Given the description of an element on the screen output the (x, y) to click on. 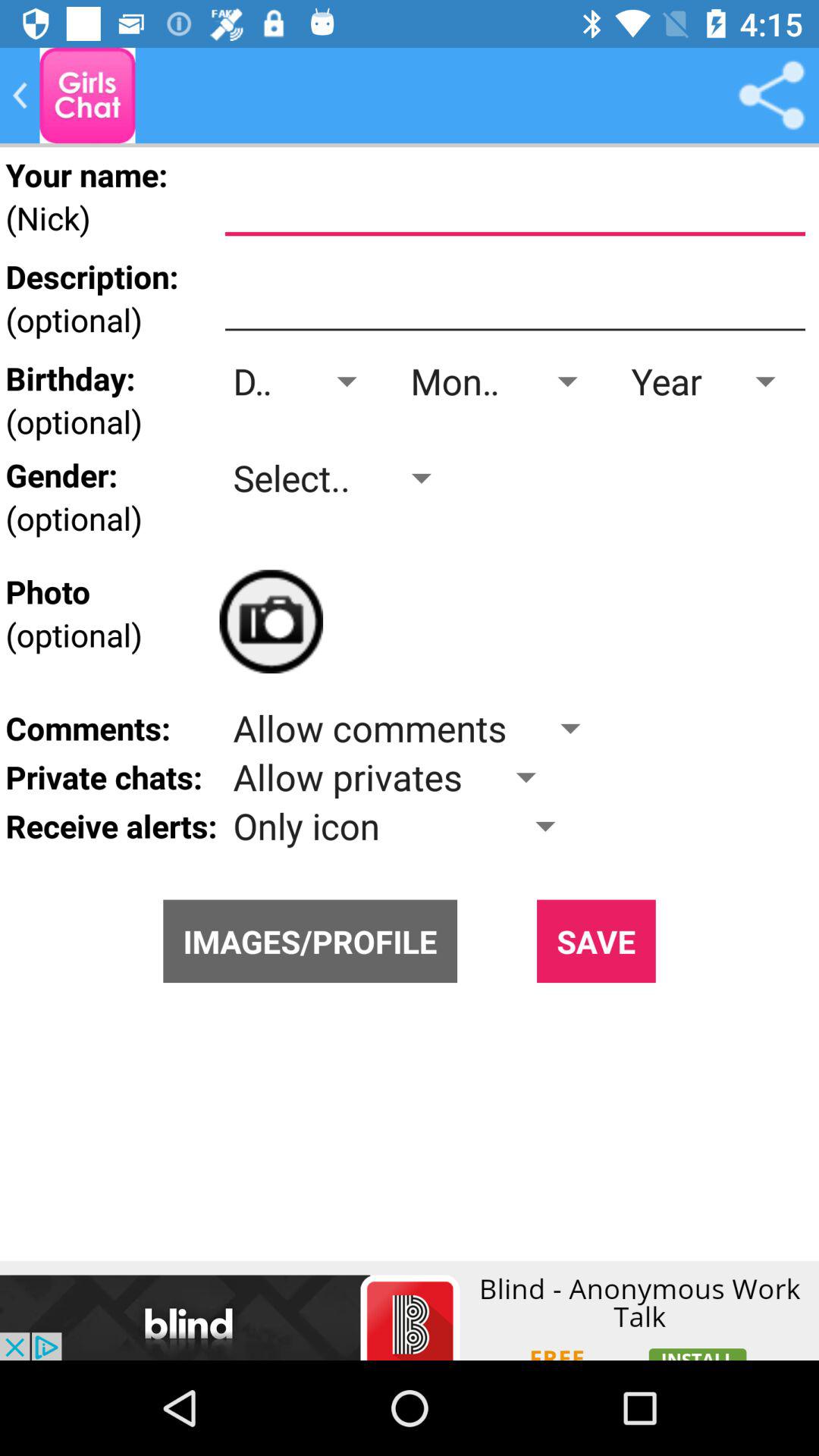
upload photo (271, 621)
